Given the description of an element on the screen output the (x, y) to click on. 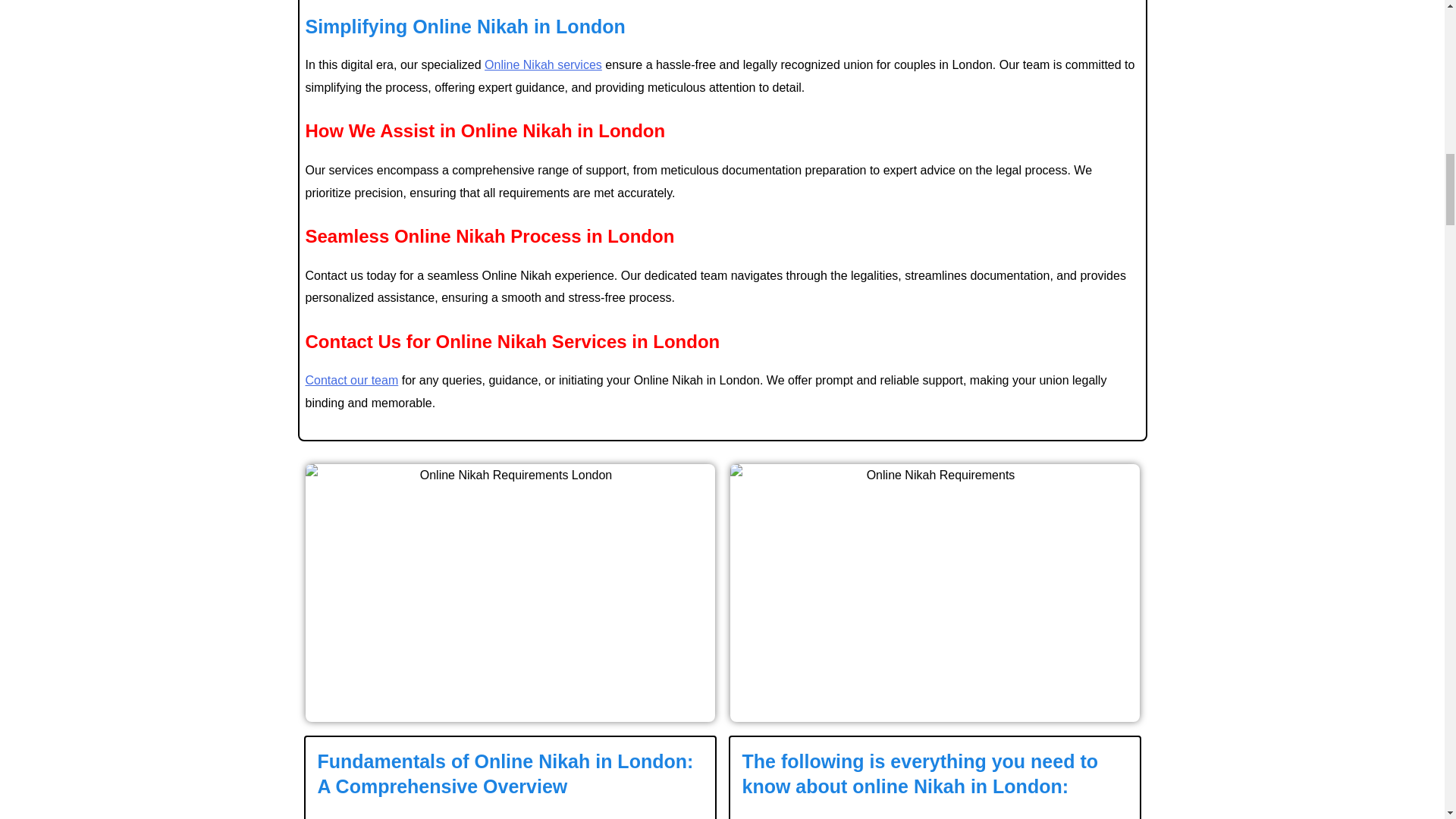
Online Nikah services (543, 64)
Contact our team (350, 379)
